Given the description of an element on the screen output the (x, y) to click on. 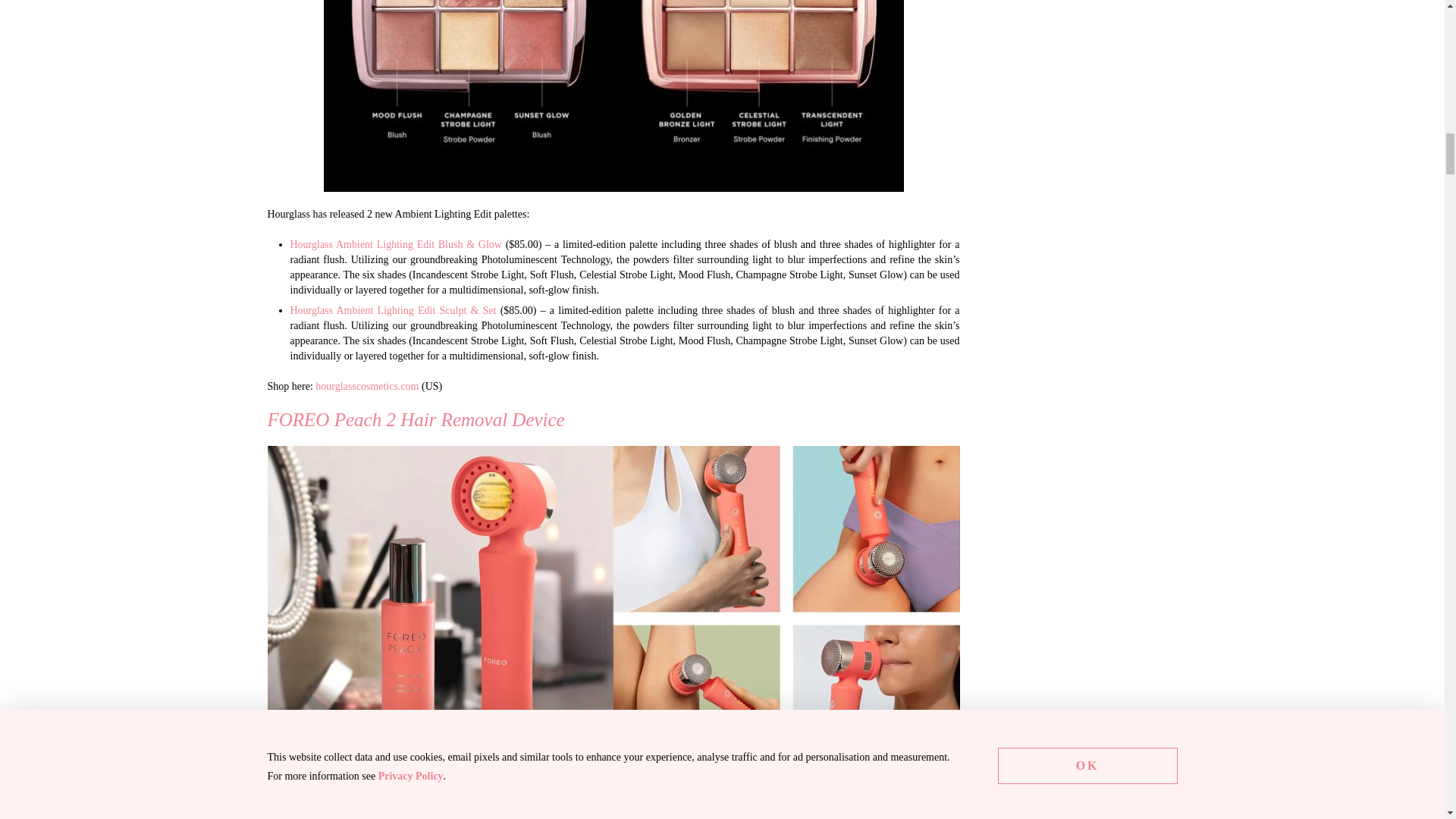
Hourglass Ambient Lighting Edit Palettes (612, 95)
hourglasscosmetics.com (367, 386)
FOREO Peach 2 Hair Removal Device (351, 813)
